Given the description of an element on the screen output the (x, y) to click on. 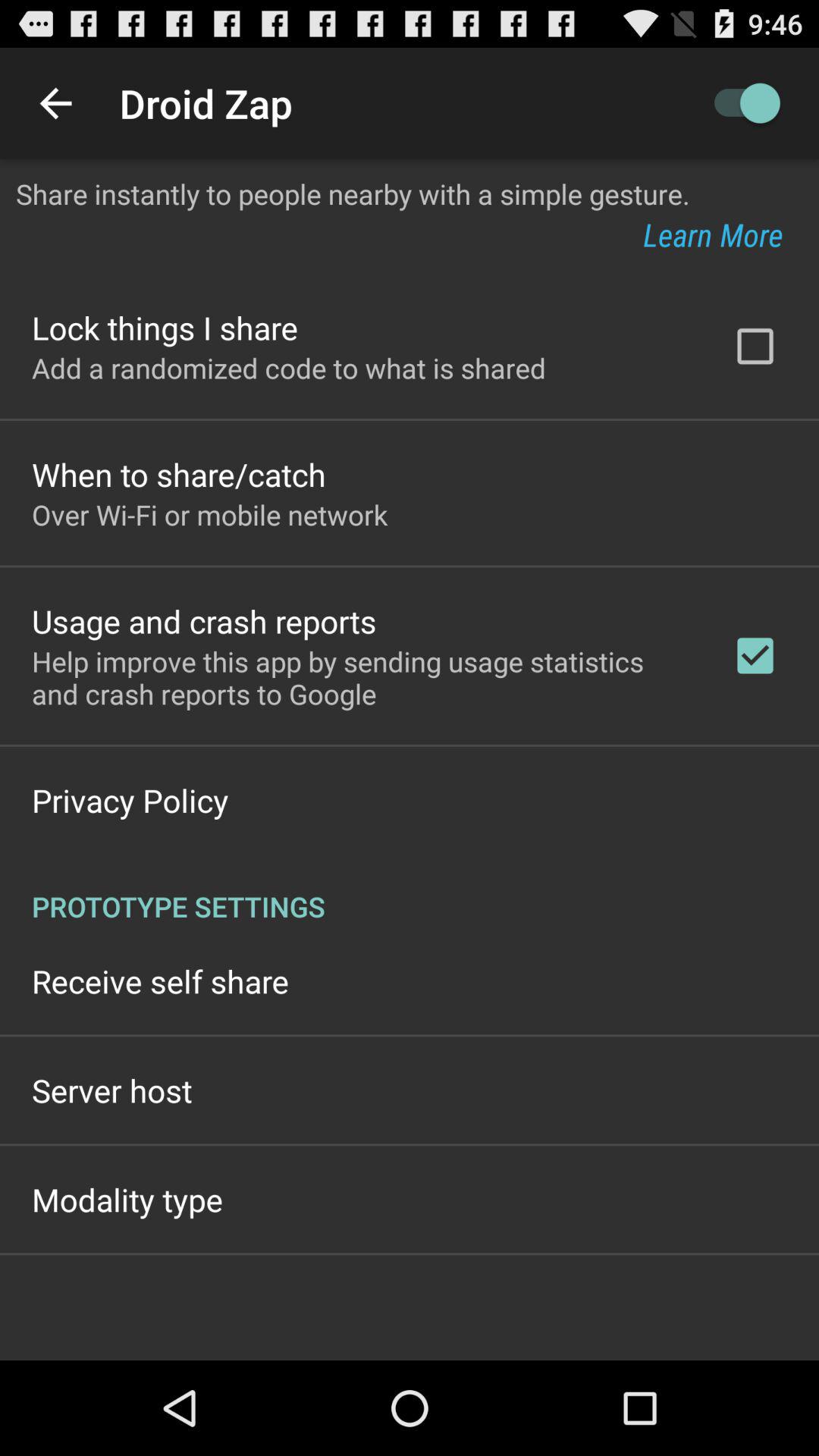
swipe to the receive self share icon (159, 980)
